Given the description of an element on the screen output the (x, y) to click on. 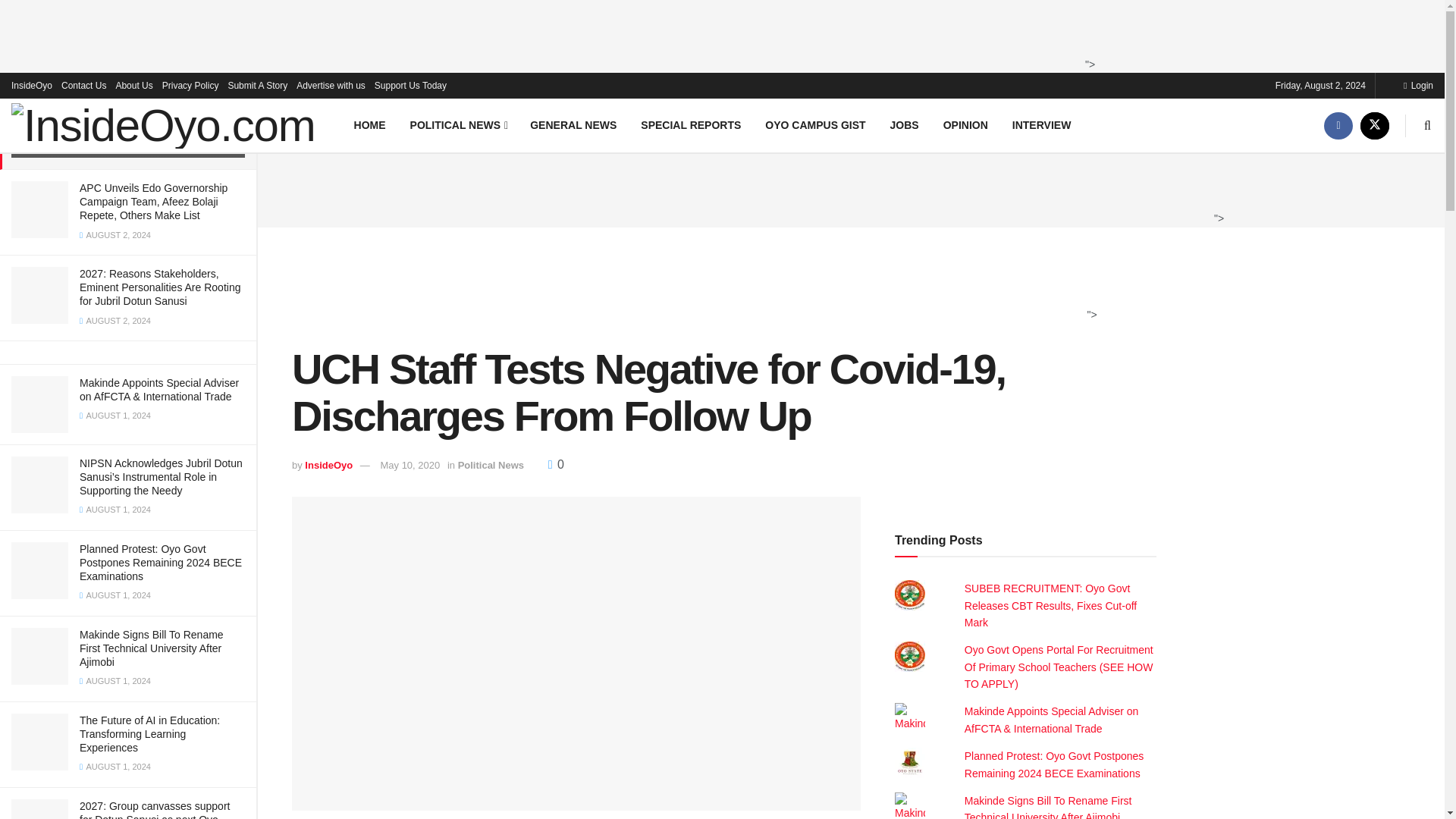
Contact Us (83, 85)
Advertise with us (331, 85)
InsideOyo (31, 85)
HOME (369, 125)
Privacy Policy (190, 85)
